Given the description of an element on the screen output the (x, y) to click on. 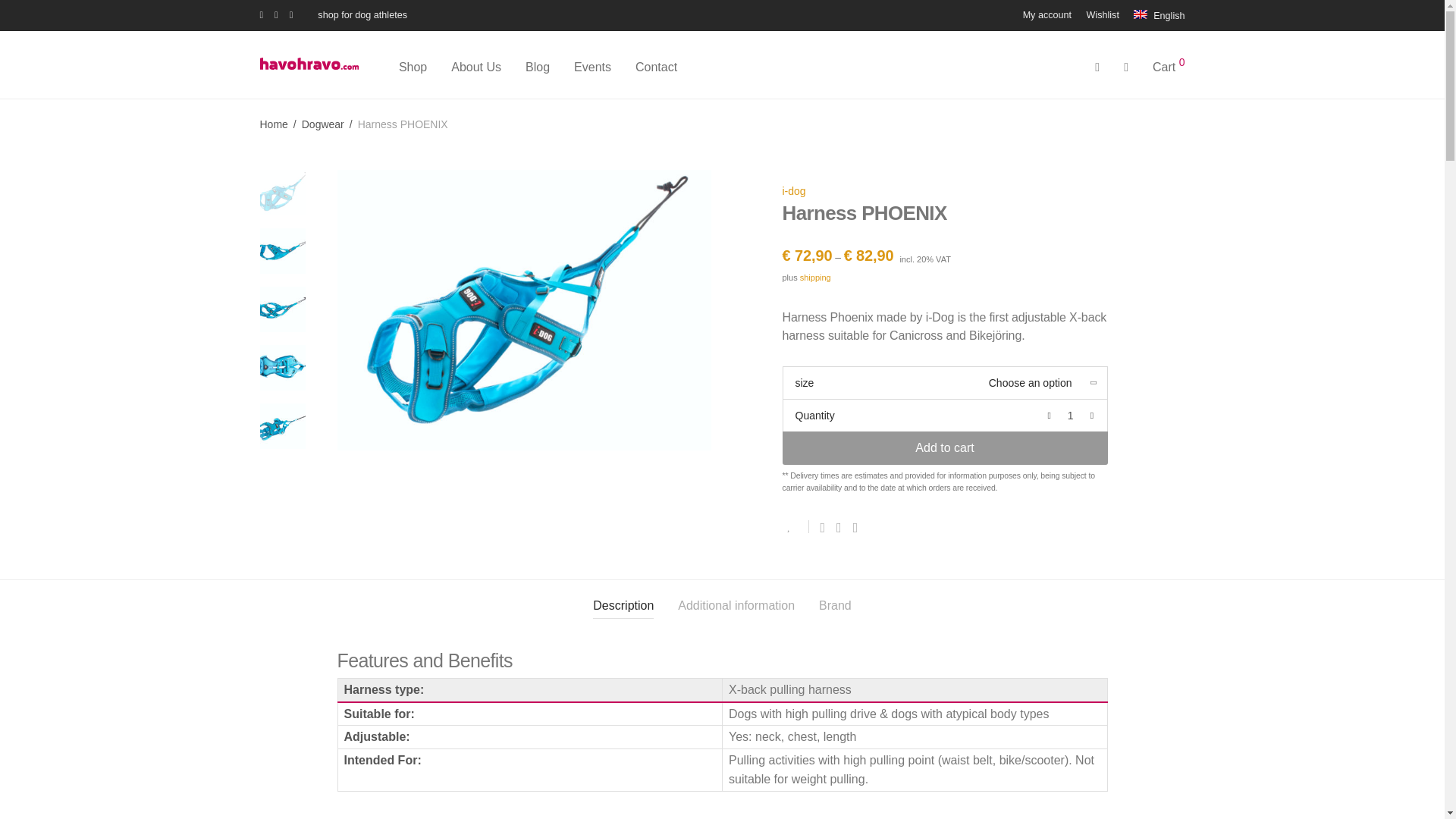
View brand (794, 190)
i-dog (794, 190)
Blog (537, 67)
Contact (655, 67)
Additional information (736, 606)
Description (622, 606)
English (1155, 15)
About Us (476, 67)
English (1155, 15)
Cart 0 (1168, 67)
Add to cart (945, 448)
My account (1046, 15)
Add to Wishlist (796, 526)
Shop (413, 67)
Brand (834, 606)
